Given the description of an element on the screen output the (x, y) to click on. 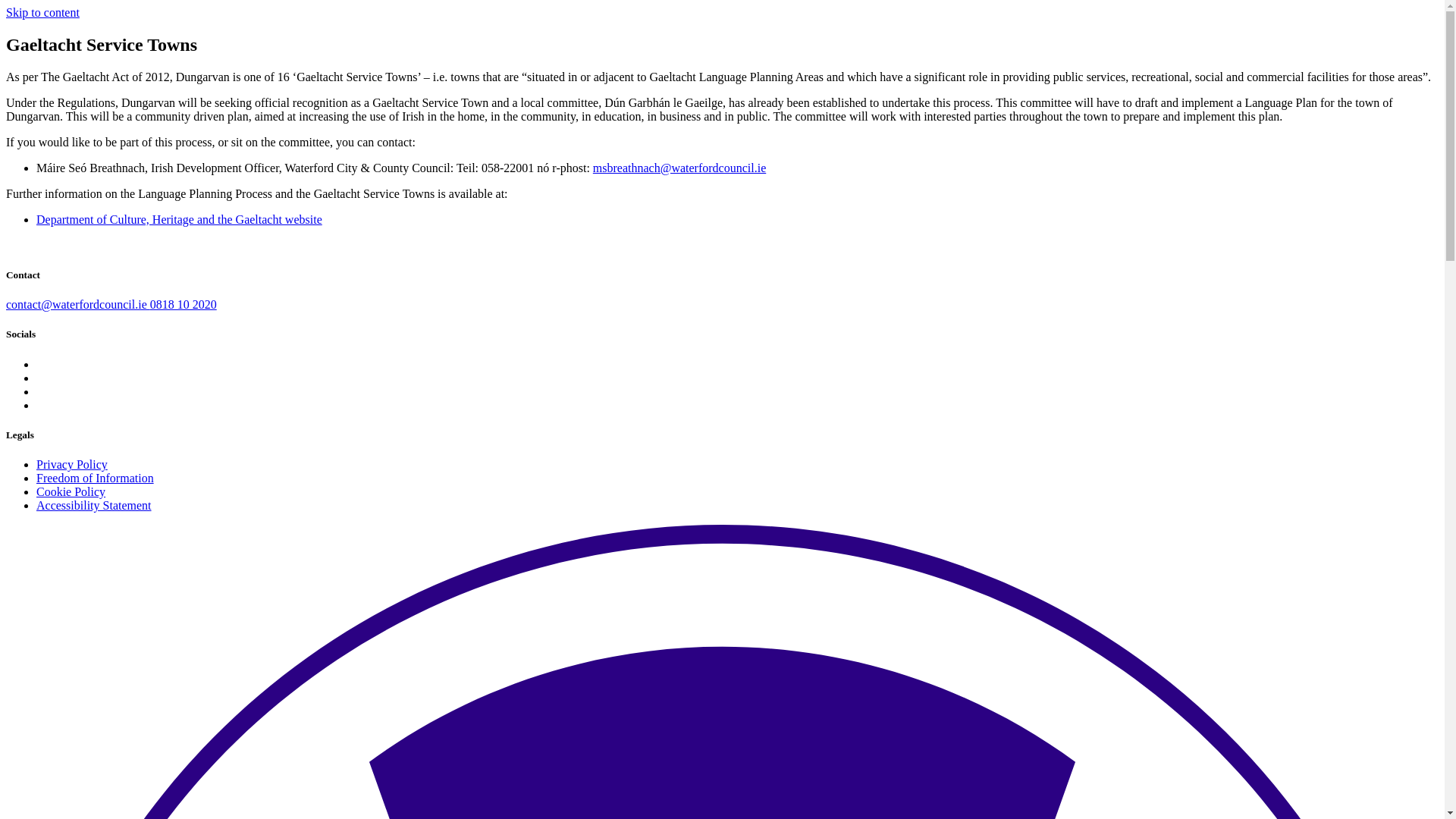
Freedom of Information (95, 477)
Privacy Policy (71, 463)
Skip to content (42, 11)
Department of Culture, Heritage and the Gaeltacht website (178, 219)
Cookie Policy (70, 491)
0818 10 2020 (182, 304)
Accessibility Statement (93, 504)
